Given the description of an element on the screen output the (x, y) to click on. 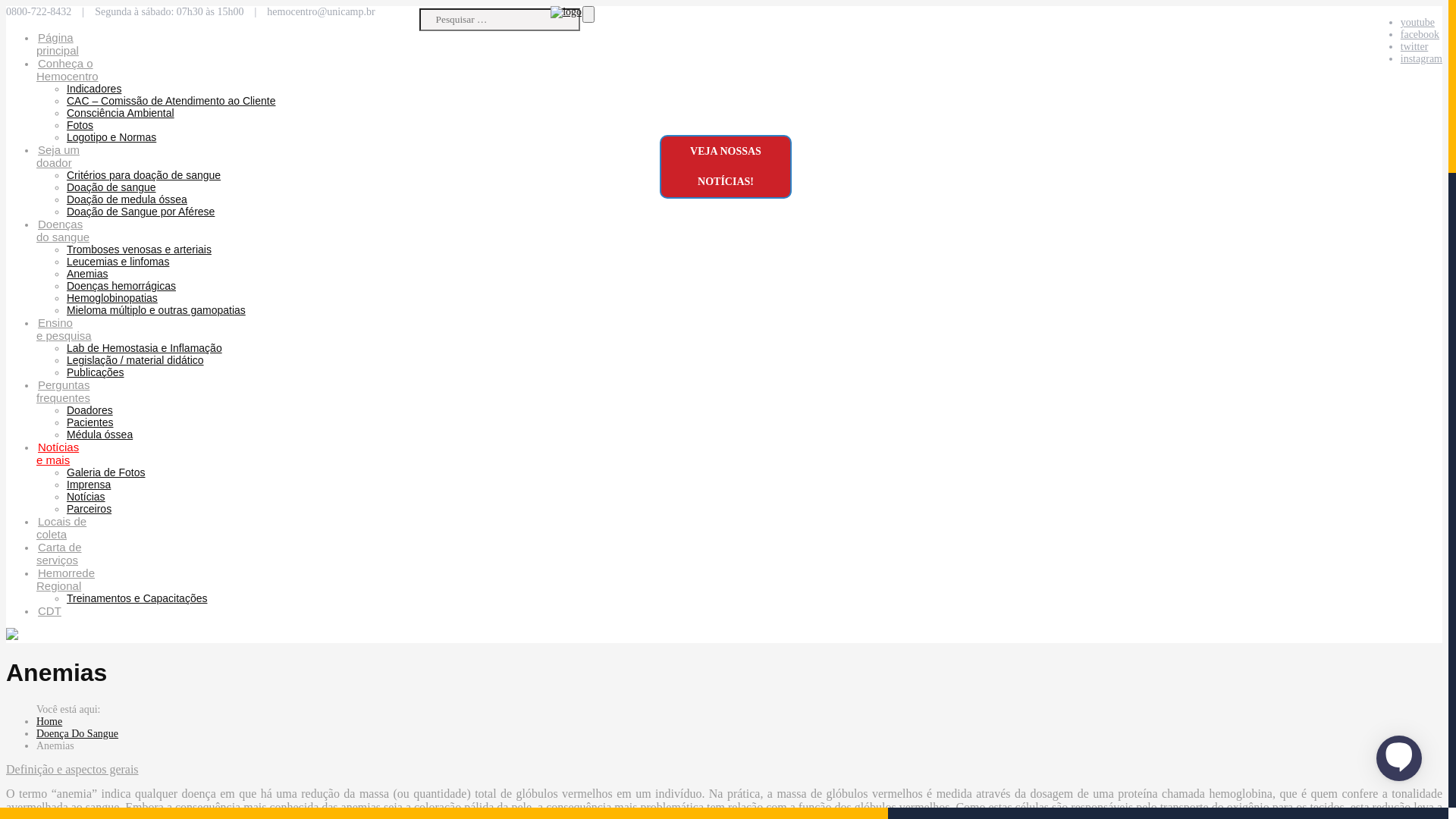
Perguntas
frequentes Element type: text (63, 390)
Leucemias e linfomas Element type: text (117, 261)
CDT Element type: text (49, 610)
Pacientes Element type: text (89, 422)
facebook Element type: text (1419, 34)
Fotos Element type: text (79, 125)
Anemias Element type: text (86, 273)
Parceiros Element type: text (88, 508)
Hemorrede
Regional Element type: text (65, 579)
Seja um
doador Element type: text (57, 155)
Locais de
coleta Element type: text (61, 527)
instagram Element type: text (1421, 58)
Logotipo e Normas Element type: text (111, 137)
Hemoglobinopatias Element type: text (111, 297)
Doadores Element type: text (89, 410)
youtube Element type: text (1417, 22)
Ensino
e pesquisa Element type: text (64, 328)
Tromboses venosas e arteriais Element type: text (138, 249)
Indicadores Element type: text (93, 88)
Home Element type: text (49, 721)
Chatbot Element type: hover (1398, 756)
Galeria de Fotos Element type: text (105, 472)
Imprensa Element type: text (88, 484)
twitter Element type: text (1414, 46)
